Given the description of an element on the screen output the (x, y) to click on. 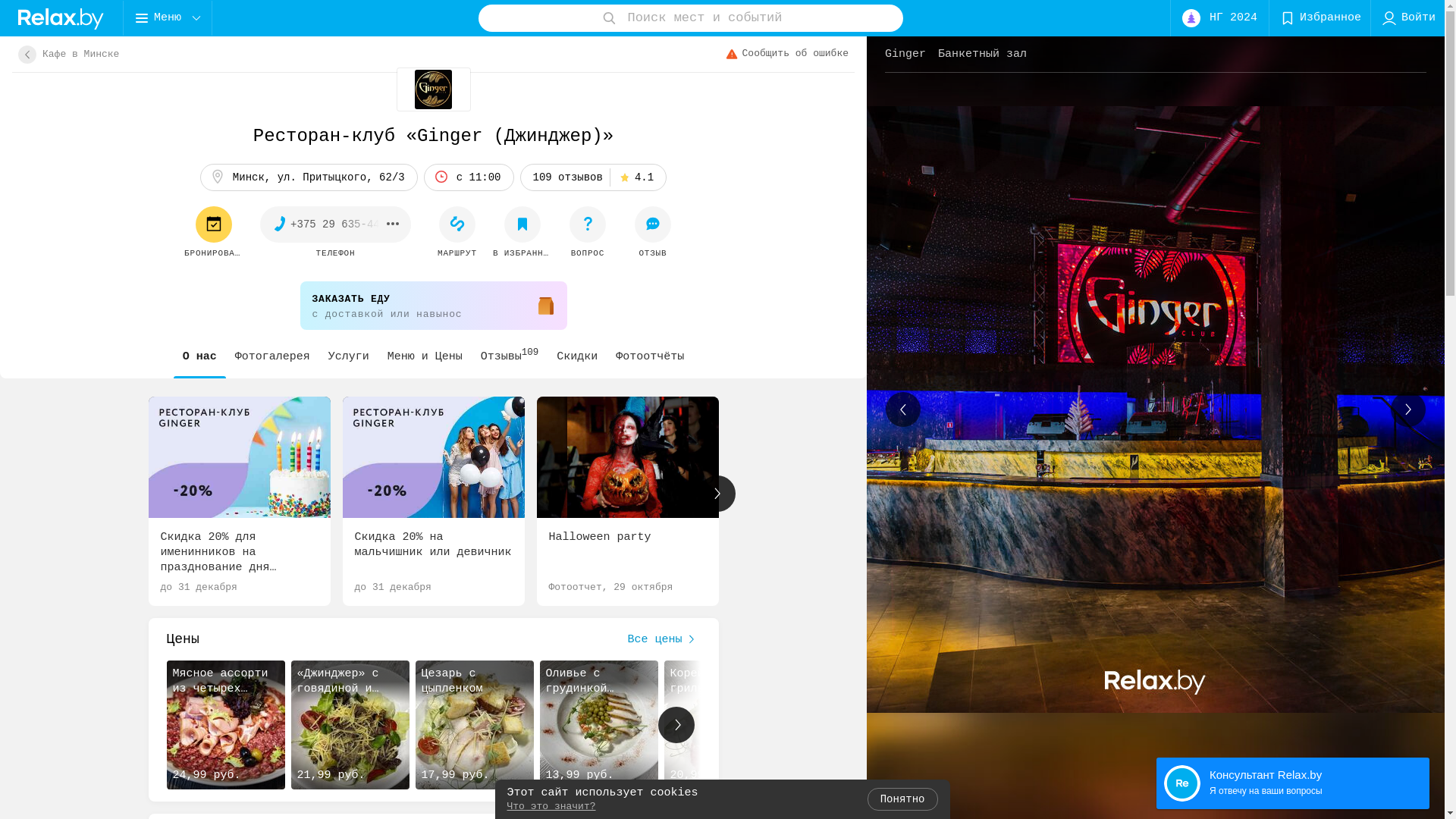
Ginger Element type: text (907, 54)
logo Element type: hover (61, 18)
